Given the description of an element on the screen output the (x, y) to click on. 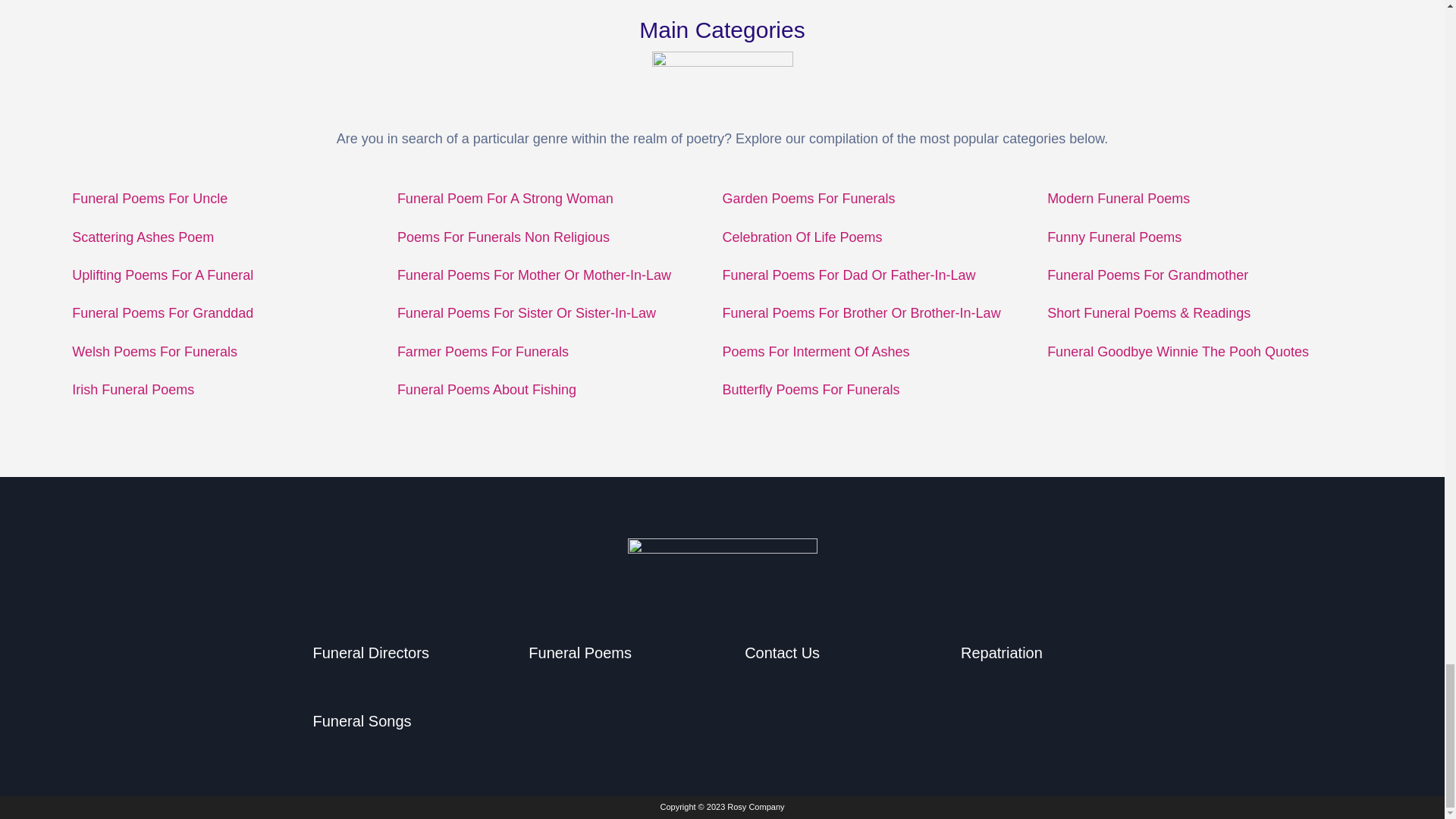
Funeral Poems For Uncle (149, 198)
Rosy Logo Transparent (721, 568)
Funeral Poem For A Strong Woman (504, 198)
Garden Poems For Funerals (808, 198)
Modern Funeral Poems (1117, 198)
